Given the description of an element on the screen output the (x, y) to click on. 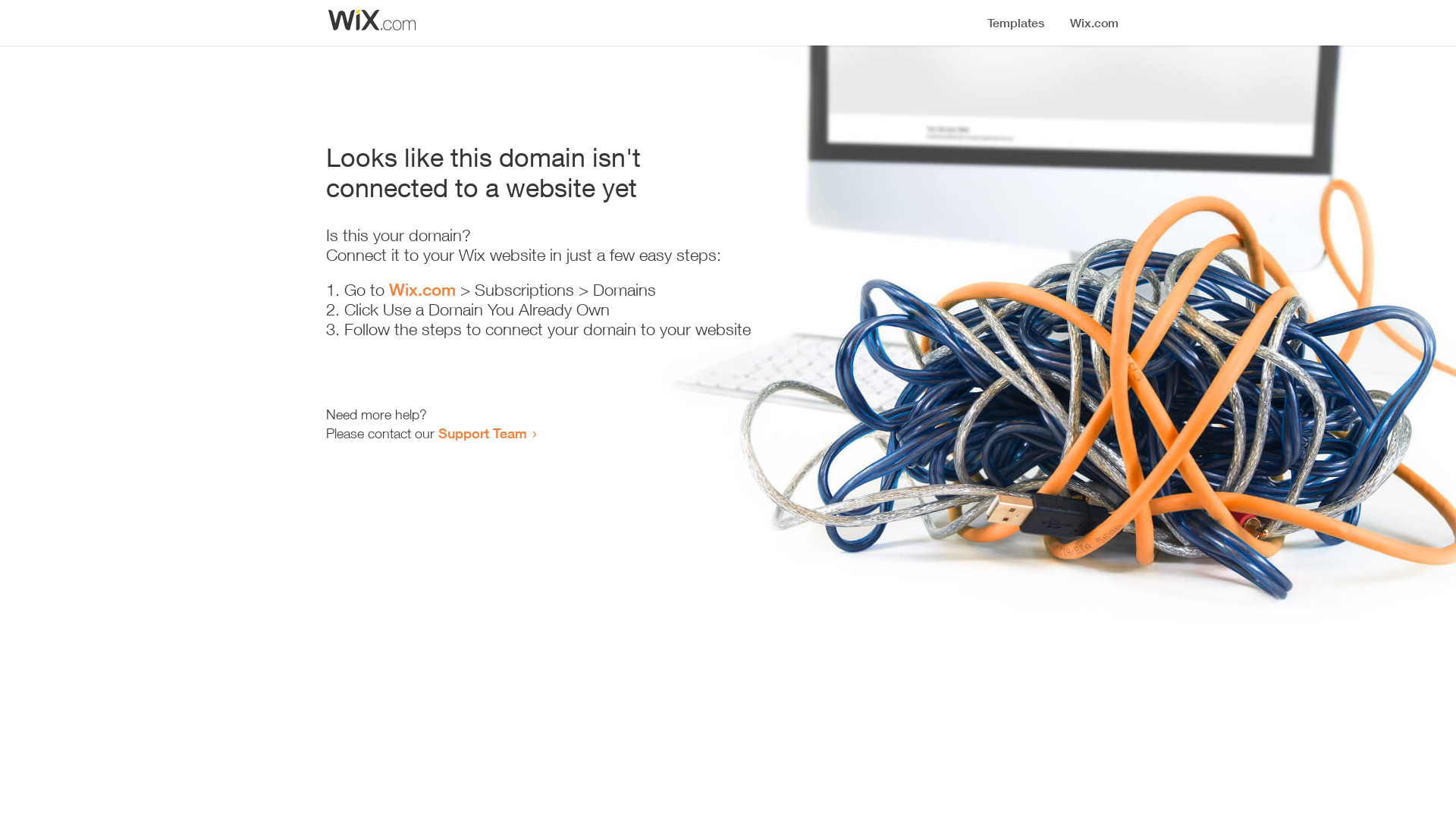
Support Team Element type: text (482, 432)
Wix.com Element type: text (422, 289)
